Given the description of an element on the screen output the (x, y) to click on. 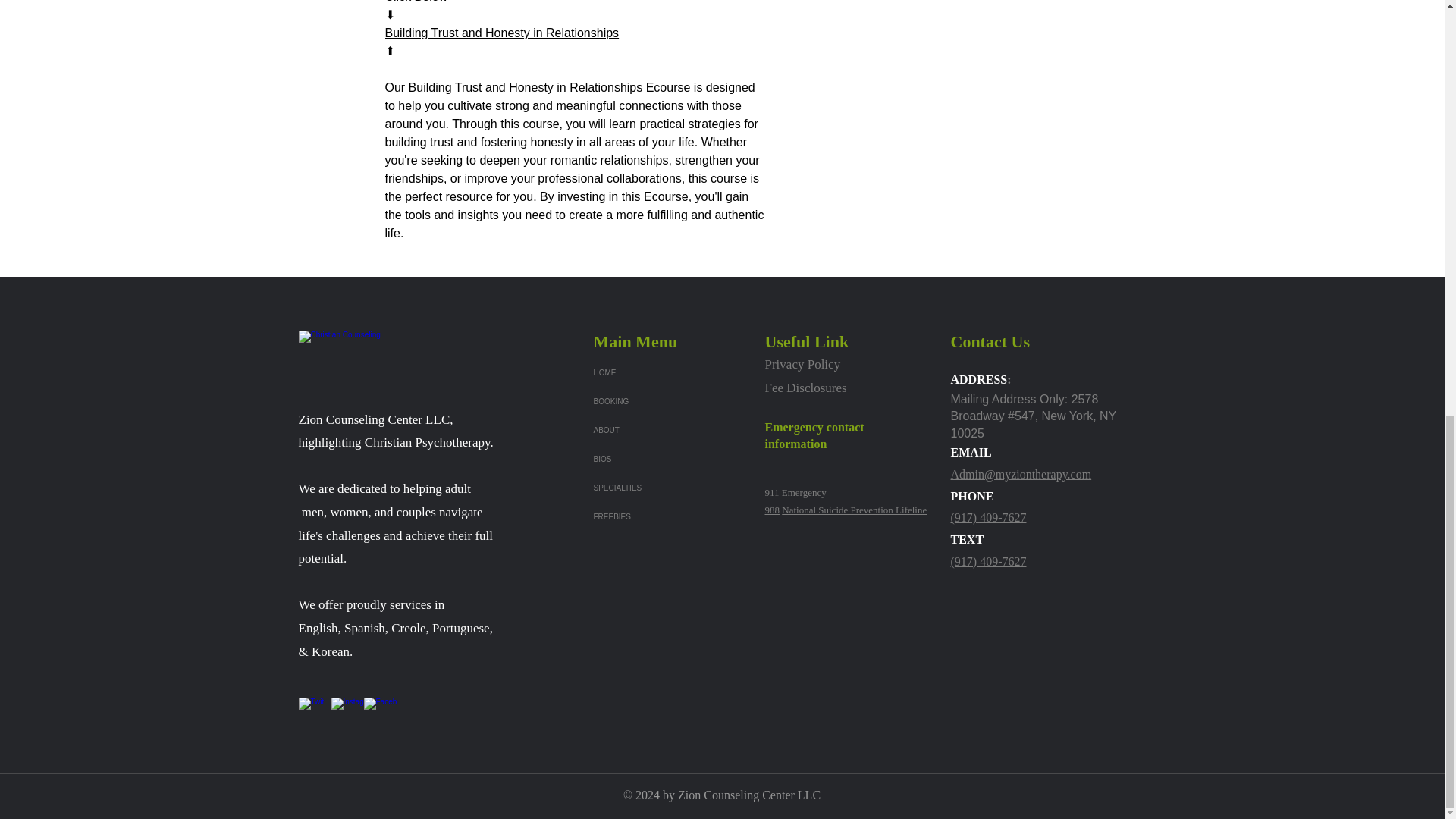
FREEBIES (646, 516)
BIOS (646, 459)
ABOUT (646, 430)
Building Trust and Honesty in Relationships (502, 32)
Logo-06.jpg (354, 366)
911 Emergency  (796, 491)
HOME (646, 372)
National Suicide Prevention Lifeline (853, 509)
988 (771, 509)
SPECIALTIES (646, 488)
